Given the description of an element on the screen output the (x, y) to click on. 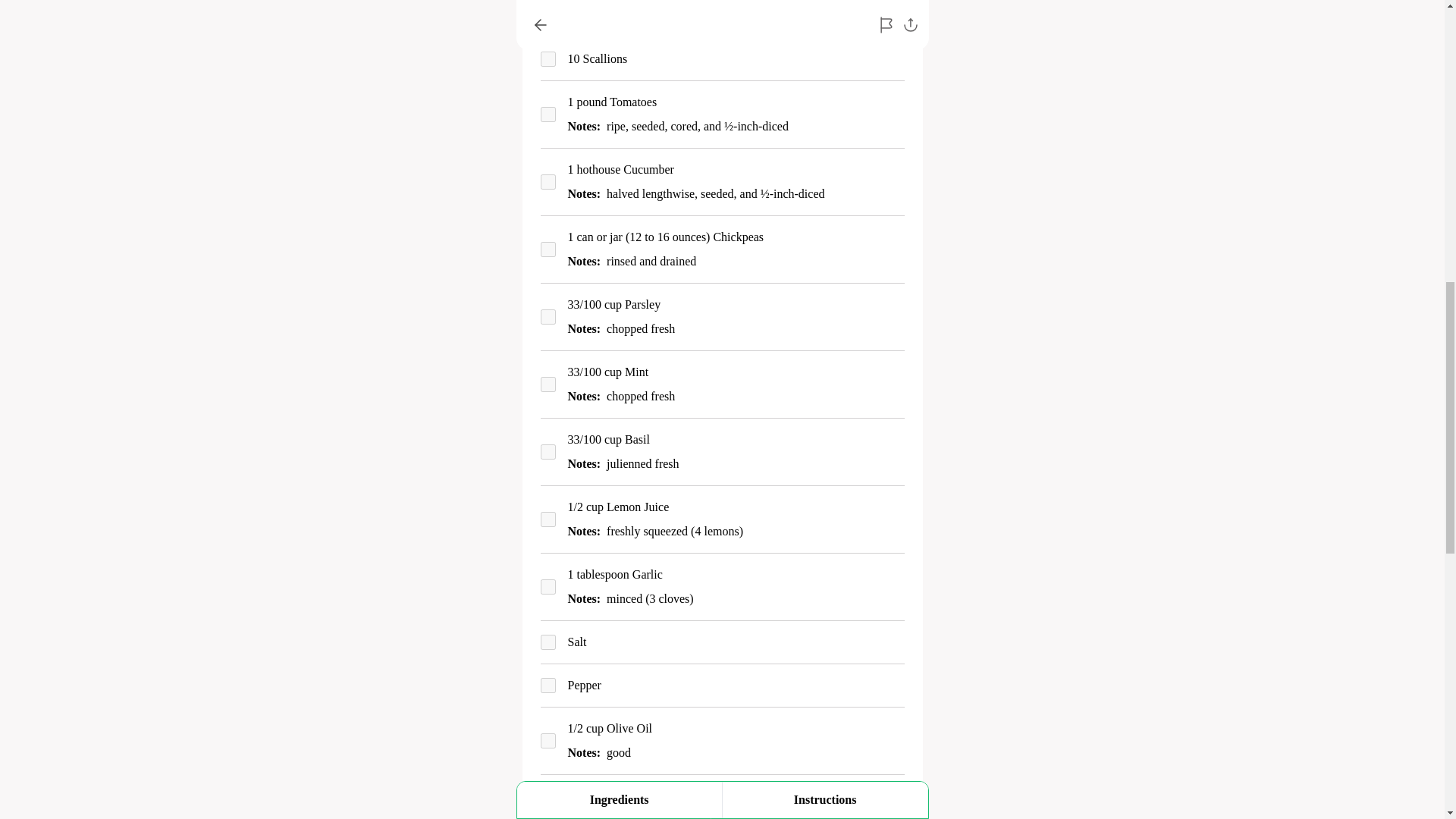
on (547, 685)
on (547, 642)
on (547, 316)
on (547, 586)
on (547, 249)
on (547, 114)
on (547, 451)
on (547, 807)
on (547, 740)
